Given the description of an element on the screen output the (x, y) to click on. 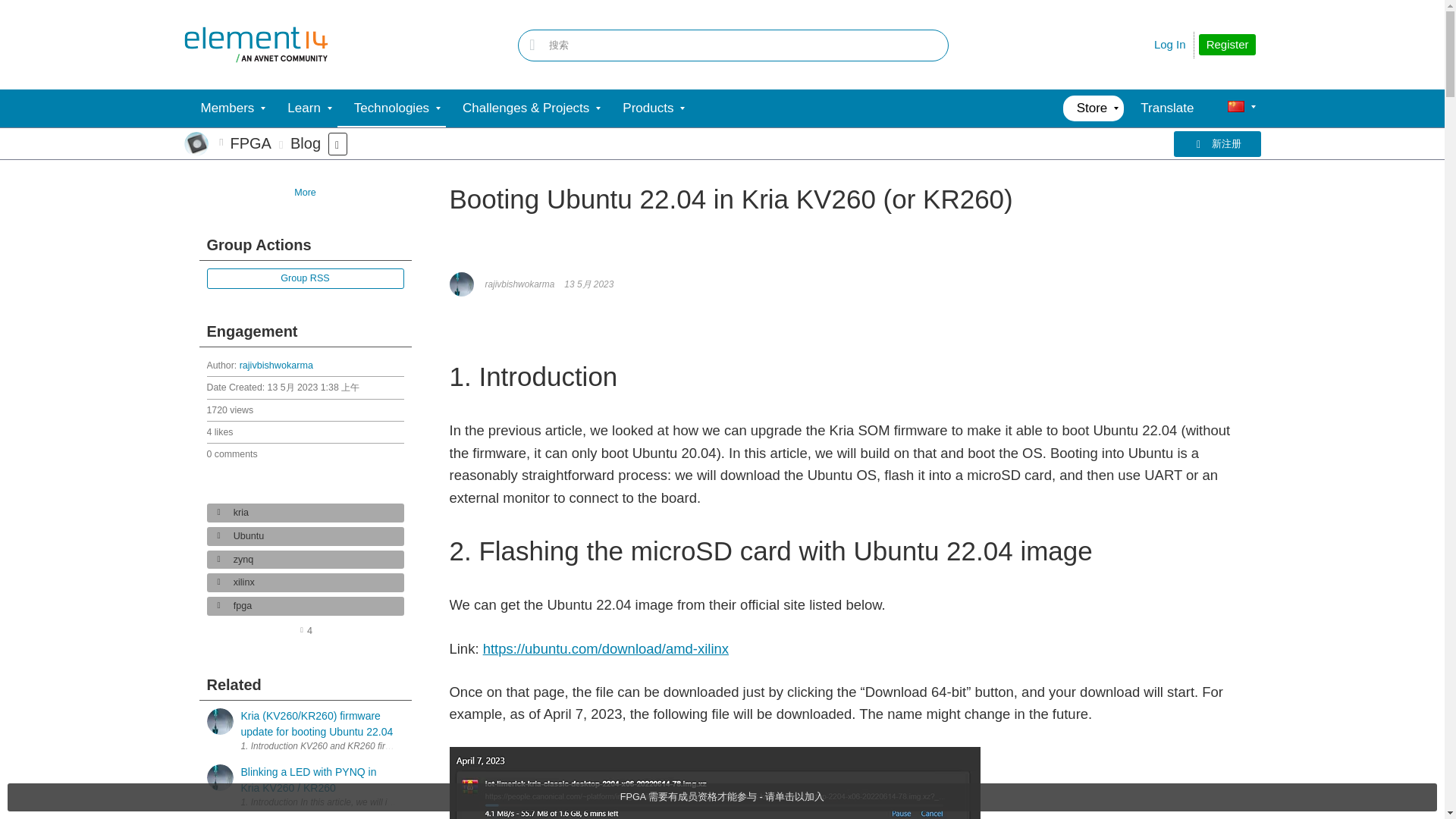
Technologies (391, 108)
Learn (303, 108)
Log In (1170, 44)
Register (1226, 44)
Members (226, 108)
Register (1226, 44)
Log In (1170, 44)
